Given the description of an element on the screen output the (x, y) to click on. 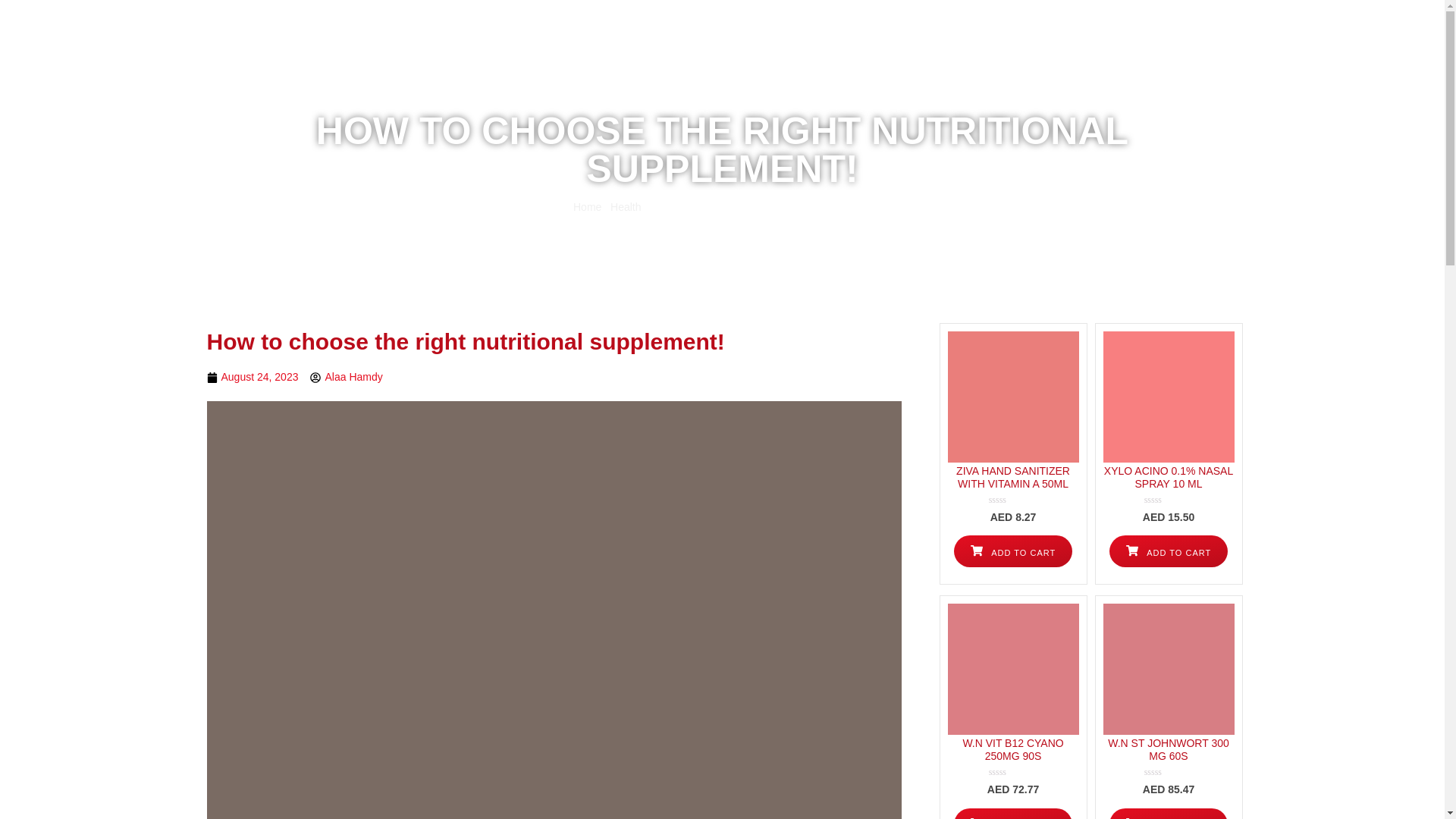
Career (1094, 65)
Book an appointment (785, 65)
Health Calculator (1014, 65)
About Us (929, 65)
My Account (1129, 12)
